Given the description of an element on the screen output the (x, y) to click on. 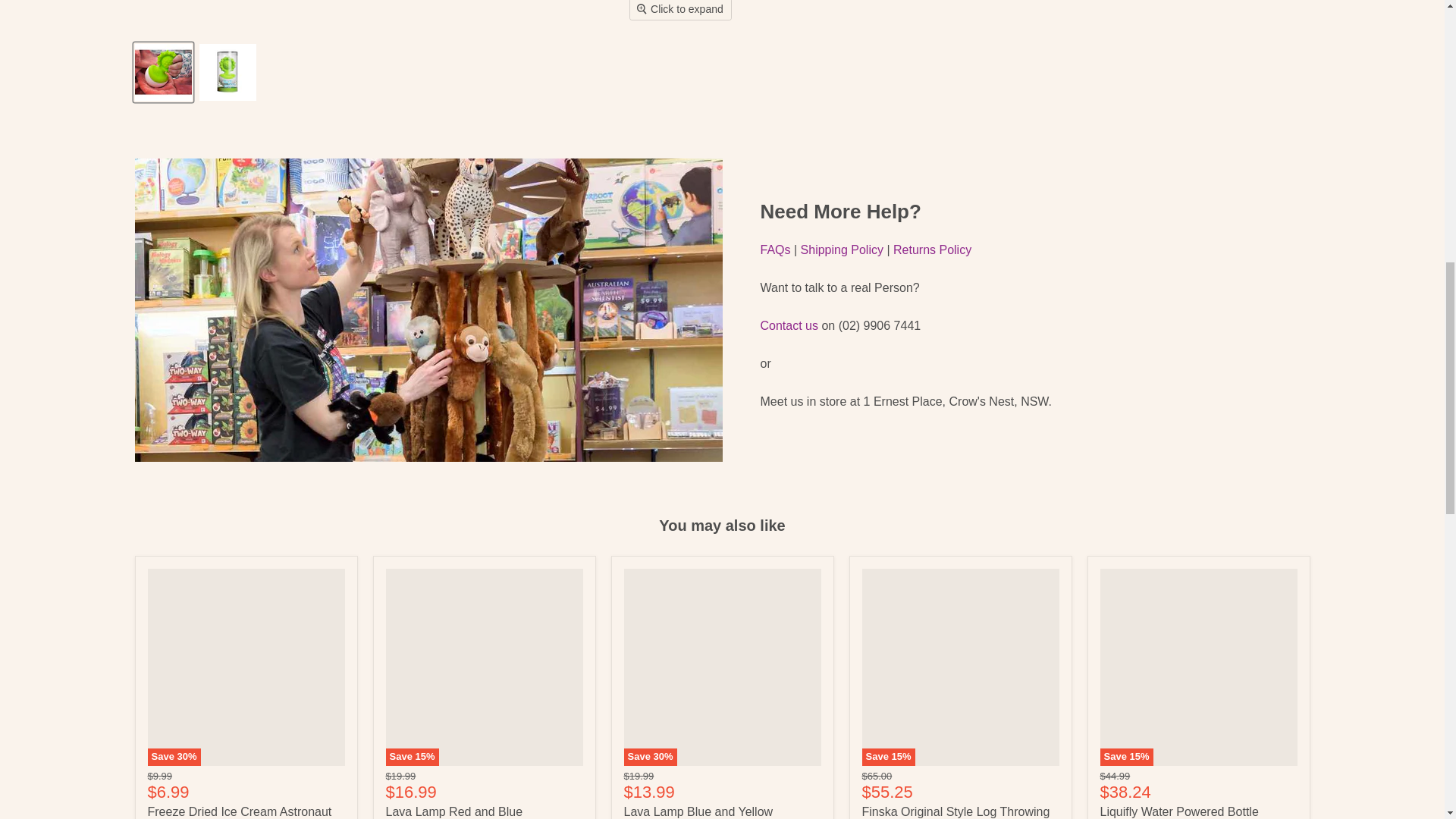
Return Guarantee (932, 249)
Shipping Policy (841, 249)
FAQS (775, 249)
Contact Us (788, 325)
